Given the description of an element on the screen output the (x, y) to click on. 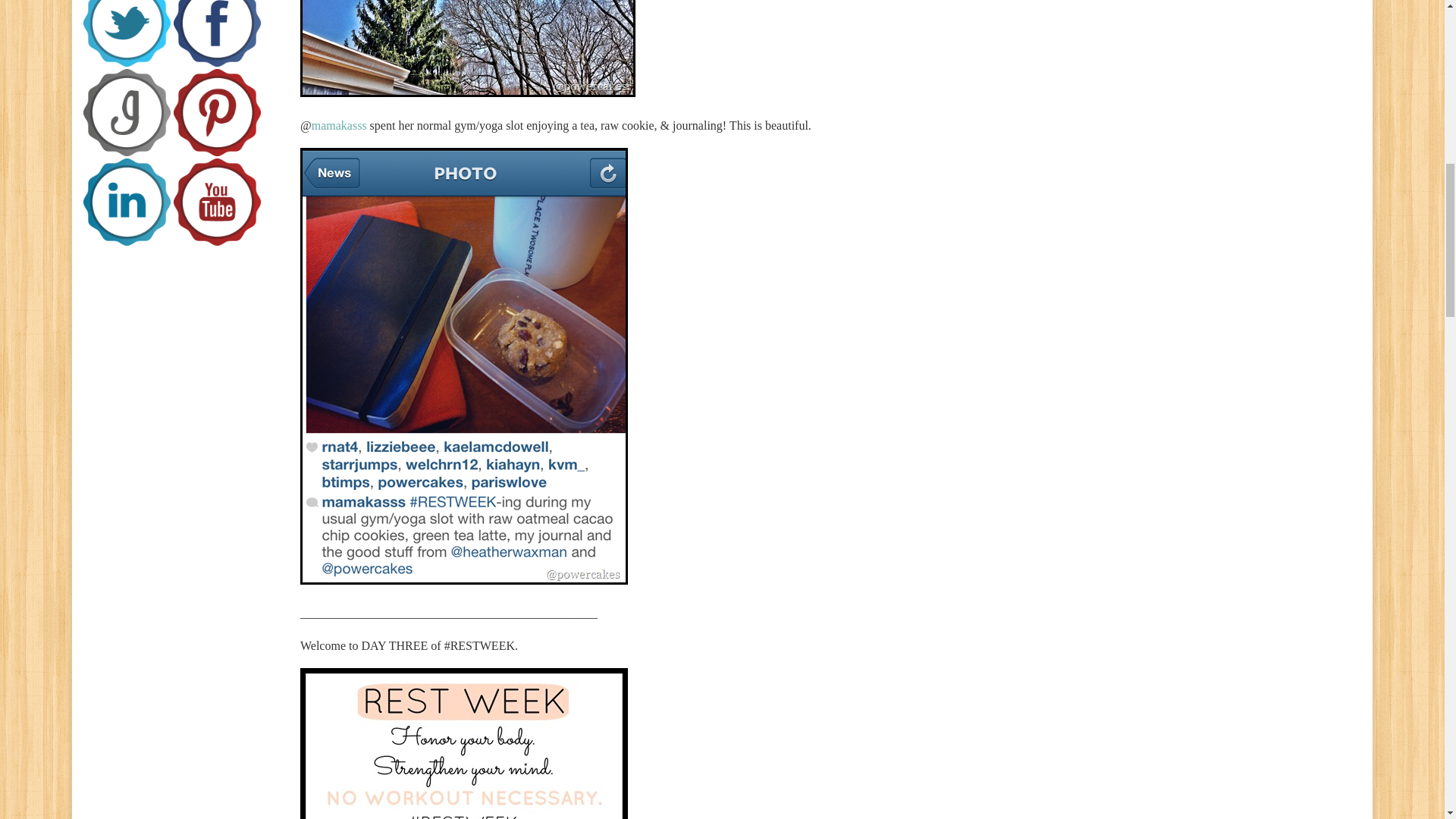
photo.JPG1 (466, 48)
RestWeekBanner-1024x1024 (463, 743)
mamakasss (338, 124)
